Given the description of an element on the screen output the (x, y) to click on. 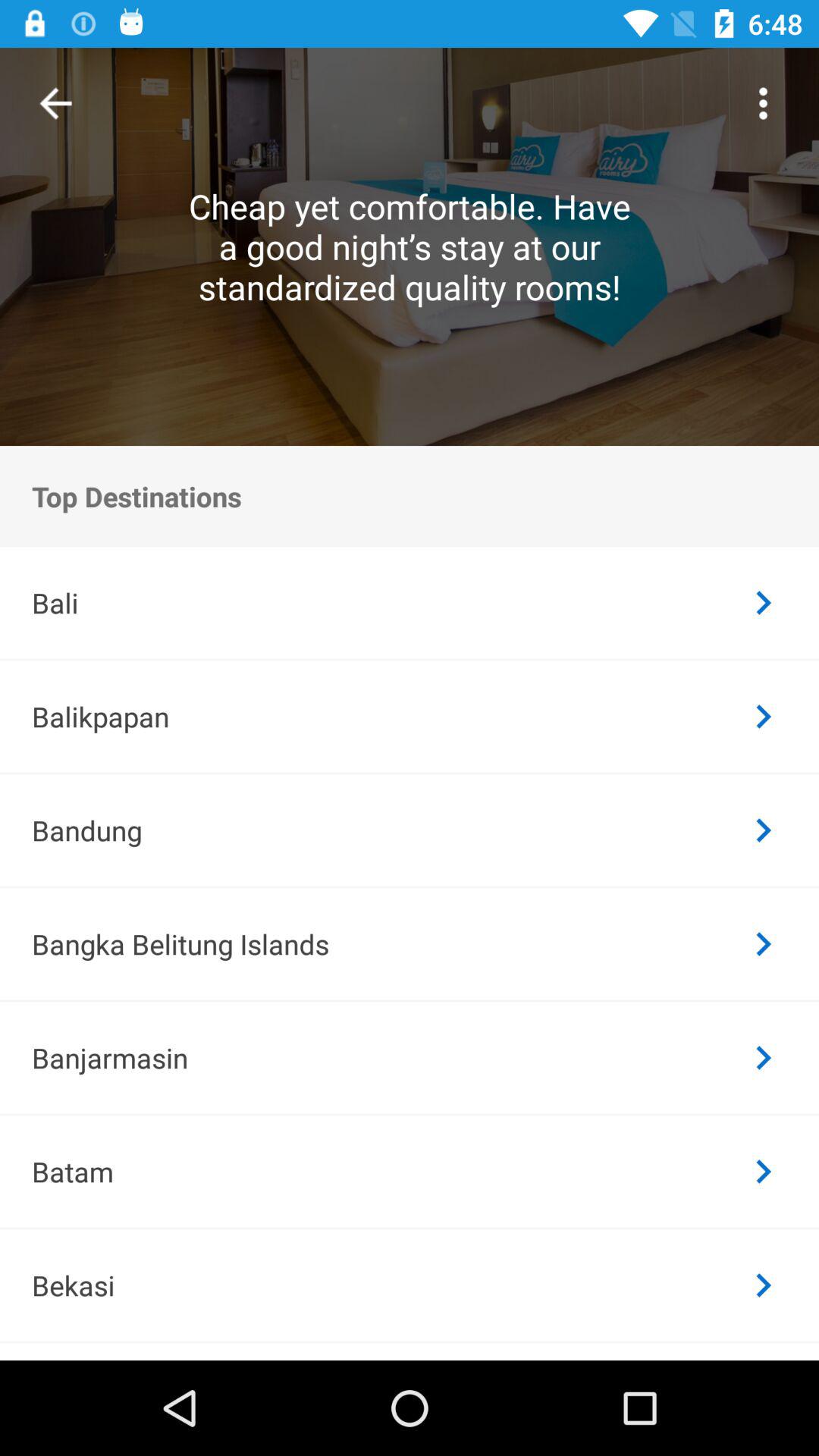
choose item next to the cheap yet comfortable (763, 103)
